Given the description of an element on the screen output the (x, y) to click on. 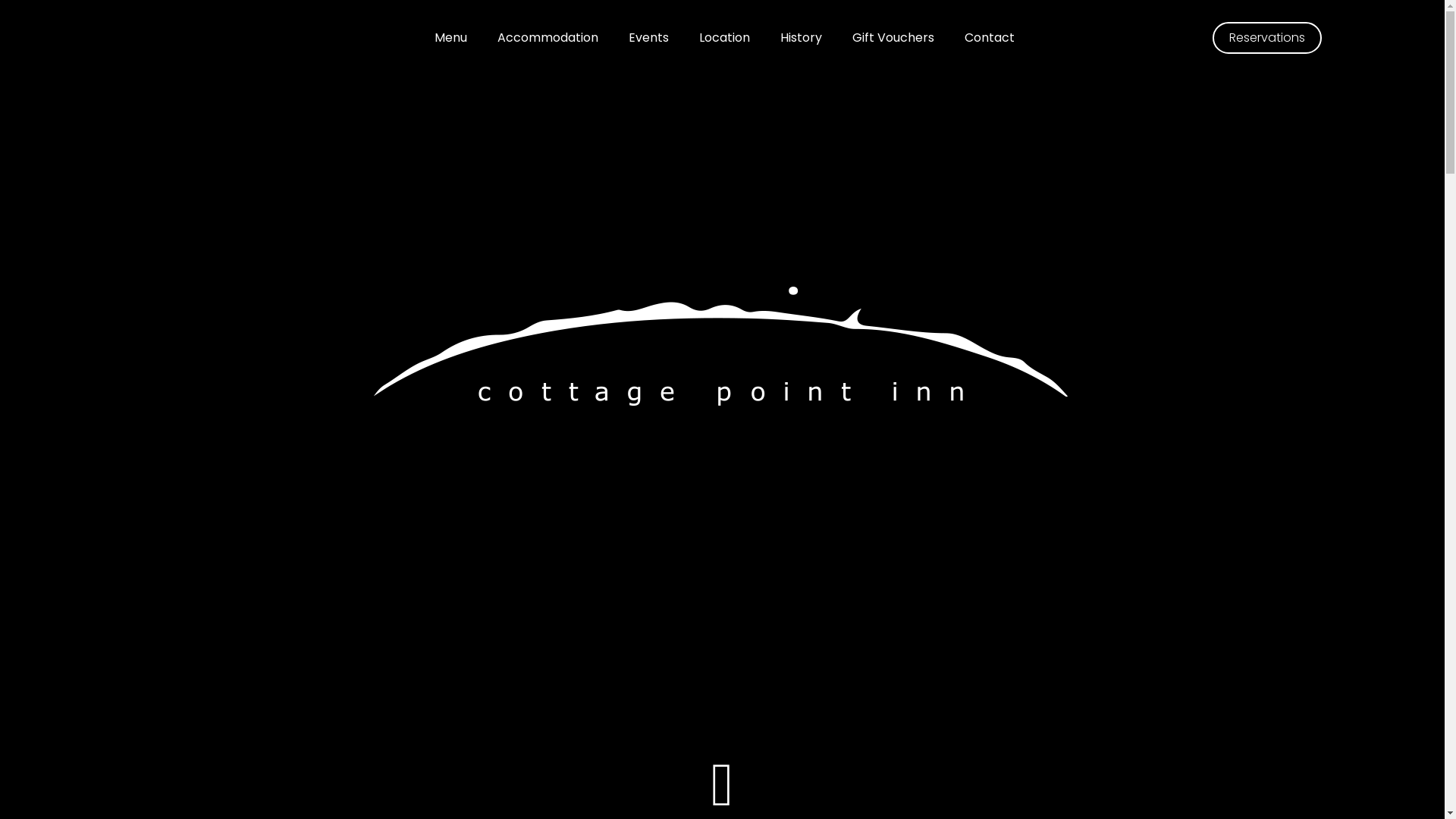
Gift Vouchers Element type: text (893, 37)
Events Element type: text (647, 37)
Menu Element type: text (449, 37)
History Element type: text (800, 37)
Accommodation Element type: text (547, 37)
Contact Element type: text (989, 37)
Location Element type: text (724, 37)
Reservations Element type: text (1266, 37)
